Given the description of an element on the screen output the (x, y) to click on. 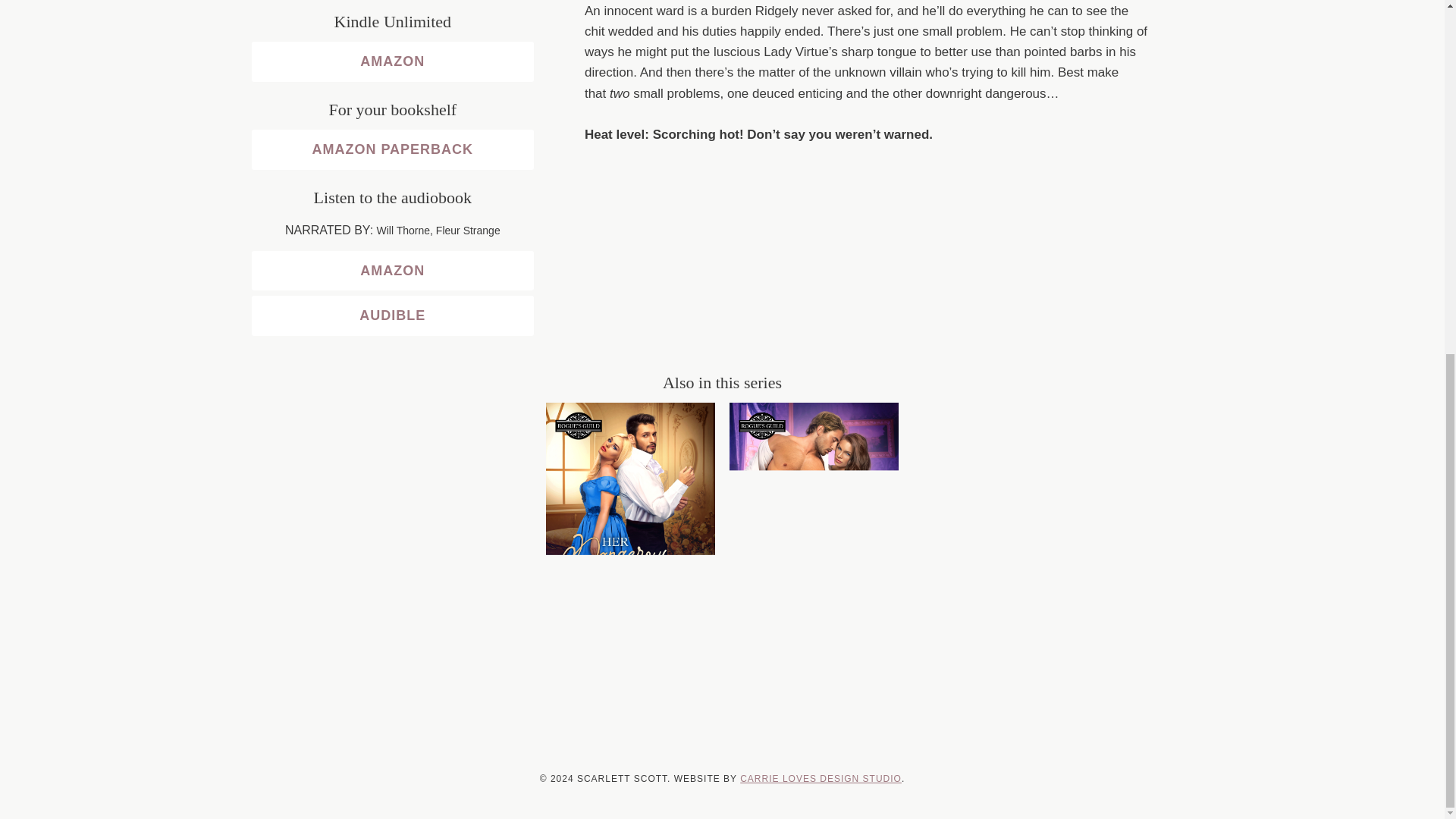
AMAZON (392, 270)
AMAZON (392, 61)
AMAZON PAPERBACK (392, 149)
CARRIE LOVES DESIGN STUDIO (820, 778)
AUDIBLE (392, 315)
